Given the description of an element on the screen output the (x, y) to click on. 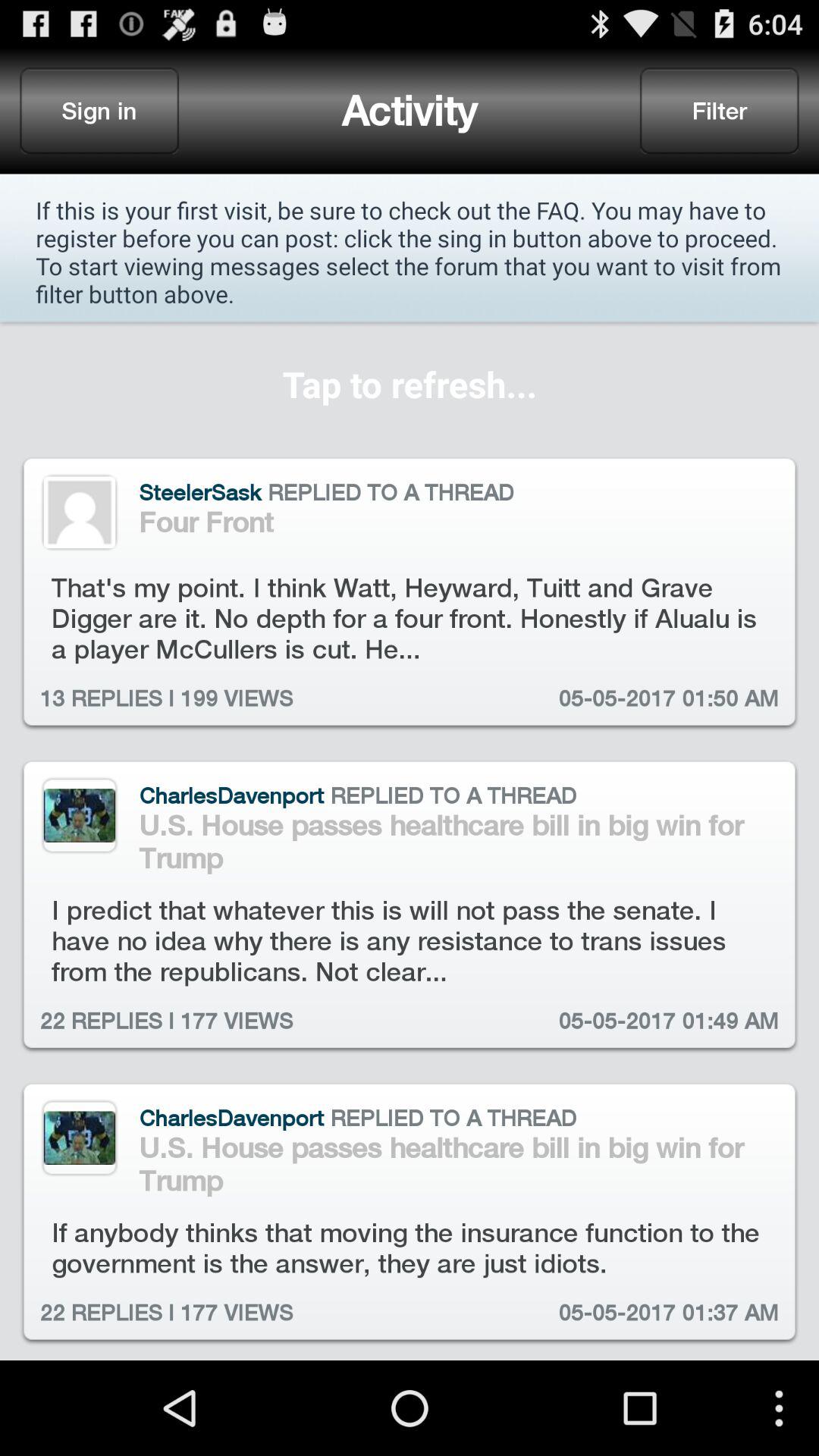
view image (79, 815)
